Given the description of an element on the screen output the (x, y) to click on. 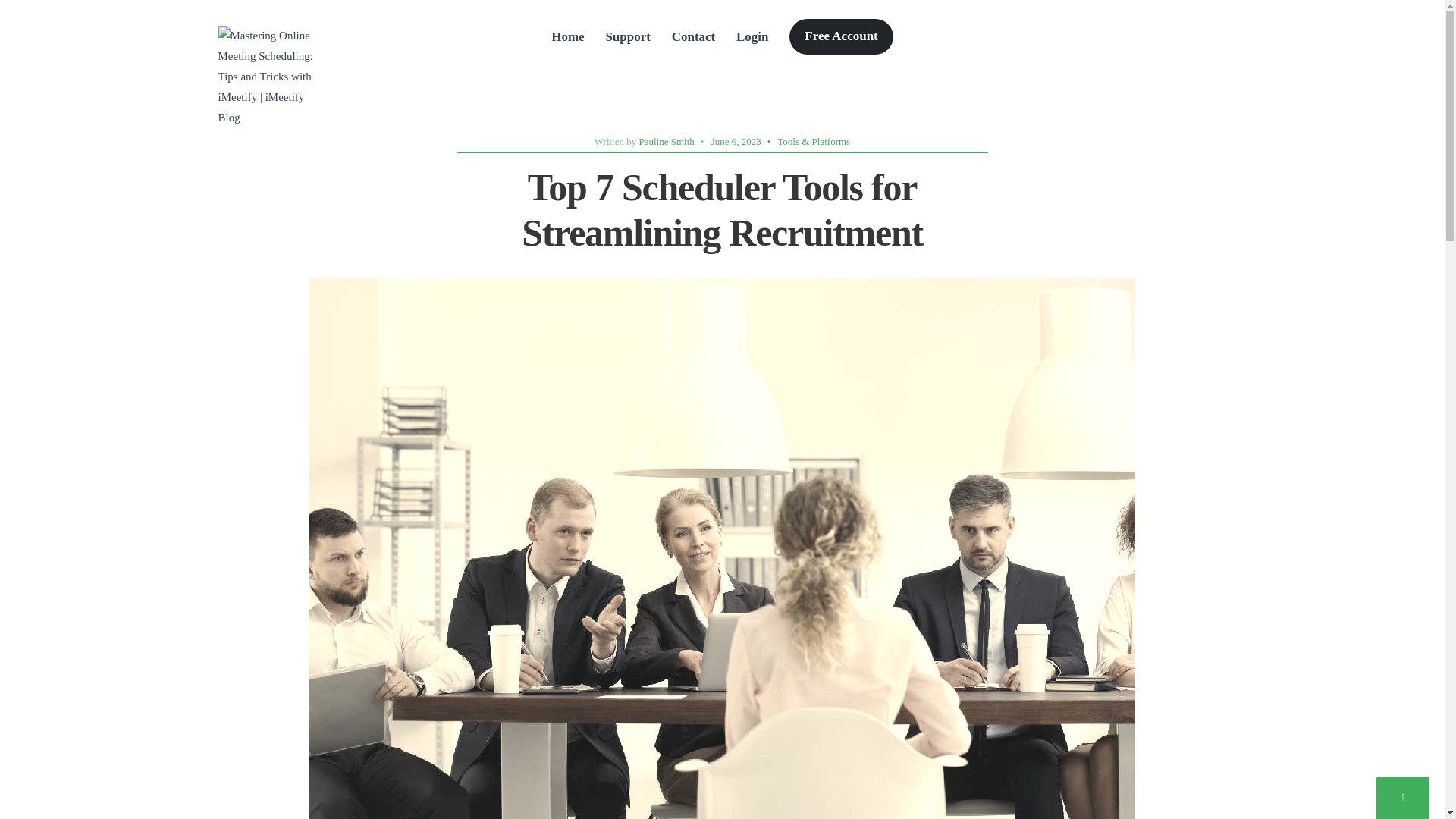
Support (627, 36)
Login (752, 36)
Free Account (840, 36)
Home (567, 36)
Posts by Pauline Smith (666, 141)
Contact (693, 36)
Scroll to top (1402, 797)
Pauline Smith (666, 141)
